Given the description of an element on the screen output the (x, y) to click on. 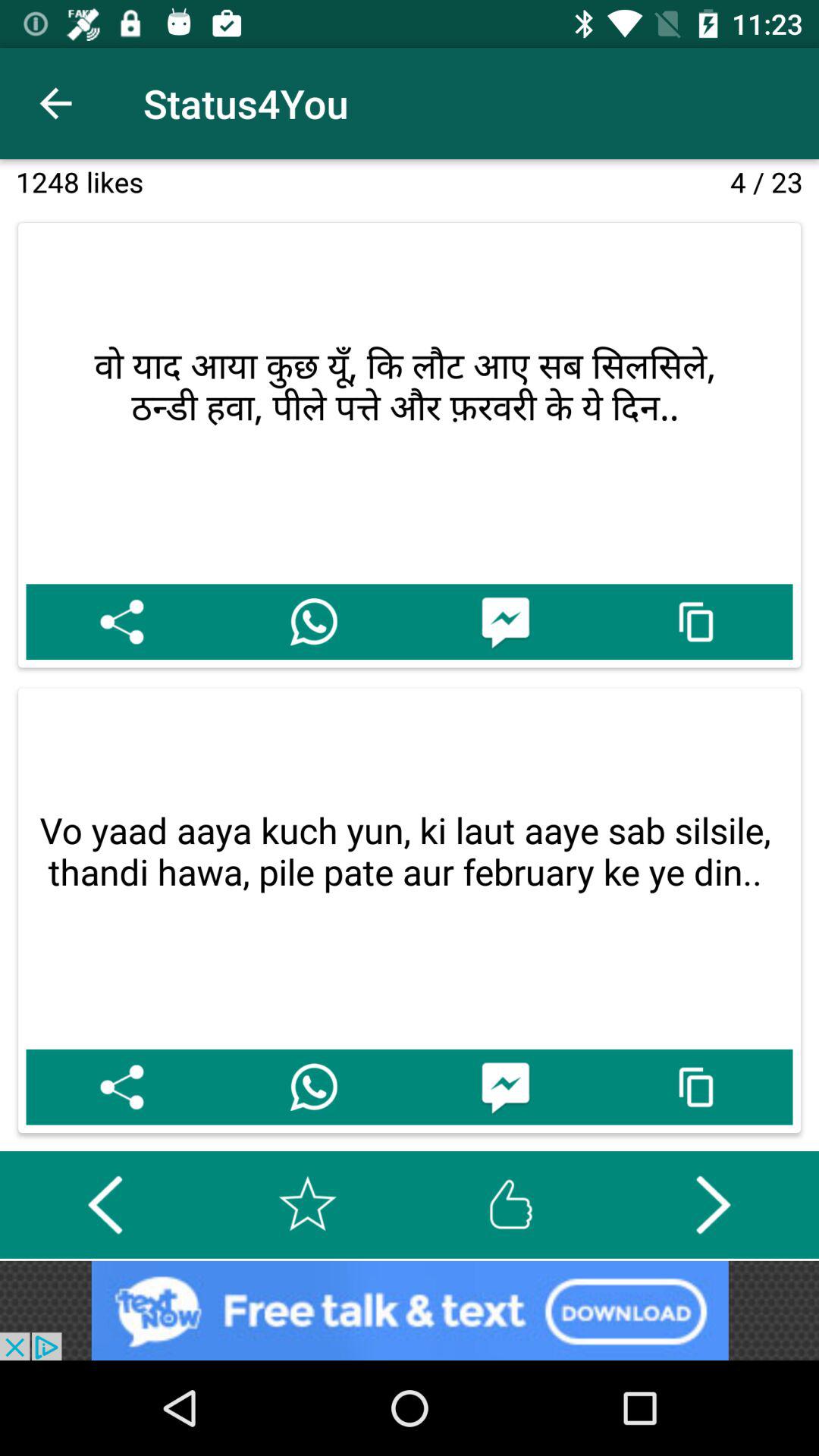
open item next to status4you icon (55, 103)
